Given the description of an element on the screen output the (x, y) to click on. 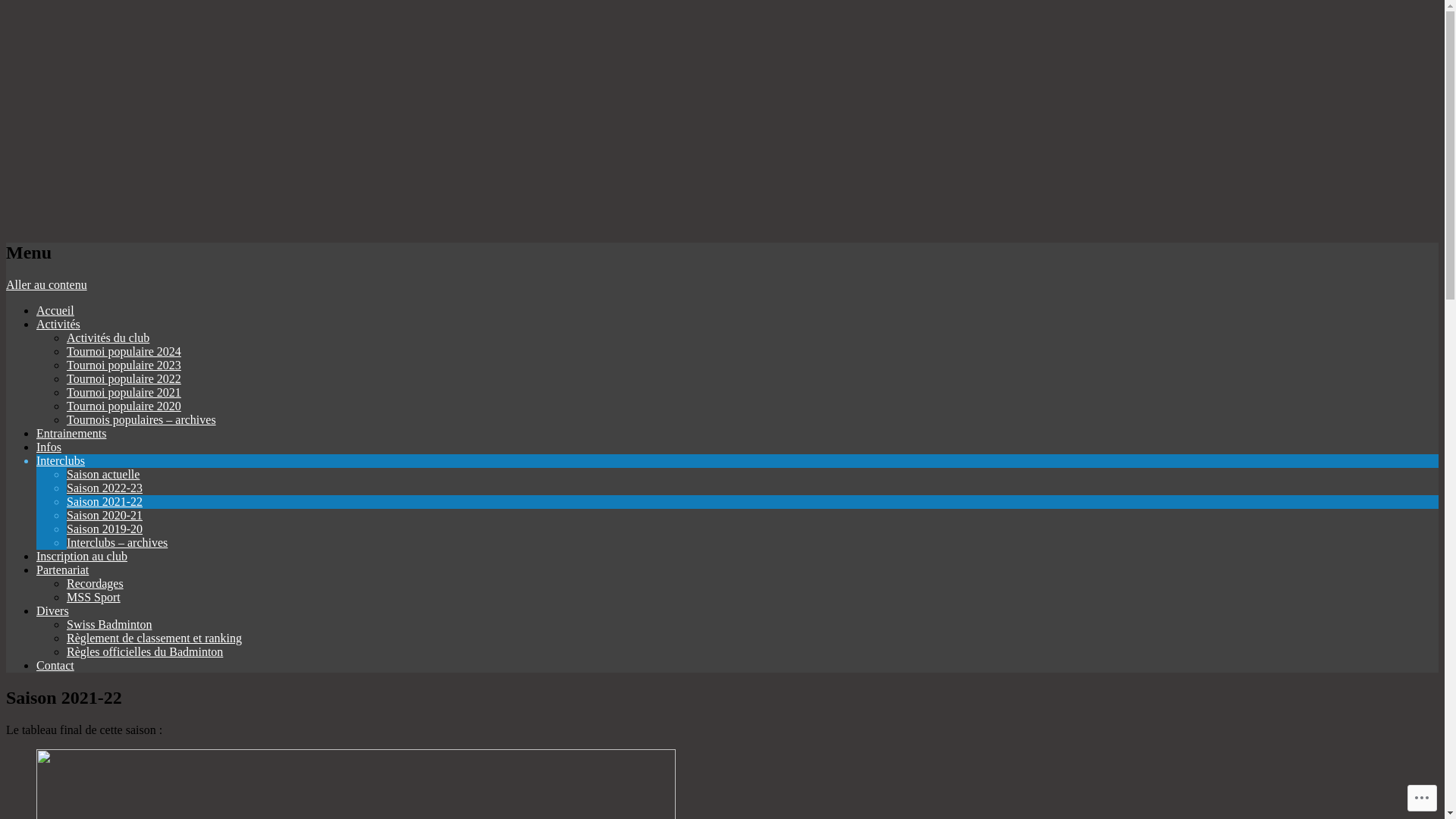
Accueil Element type: text (55, 310)
Recordages Element type: text (94, 583)
Interclubs Element type: text (60, 460)
Infos Element type: text (48, 446)
Tournoi populaire 2021 Element type: text (123, 391)
Partenariat Element type: text (62, 569)
Aller au contenu Element type: text (46, 284)
MSS Sport Element type: text (93, 596)
Tournoi populaire 2022 Element type: text (123, 378)
Saison 2020-21 Element type: text (104, 514)
Saison 2021-22 Element type: text (104, 501)
Entrainements Element type: text (71, 432)
Tournoi populaire 2024 Element type: text (123, 351)
Saison 2022-23 Element type: text (104, 487)
Swiss Badminton Element type: text (108, 624)
Contact Element type: text (55, 664)
Divers Element type: text (52, 610)
Tournoi populaire 2020 Element type: text (123, 405)
Tournoi populaire 2023 Element type: text (123, 364)
Saison actuelle Element type: text (102, 473)
Saison 2019-20 Element type: text (104, 528)
Inscription au club Element type: text (81, 555)
